Given the description of an element on the screen output the (x, y) to click on. 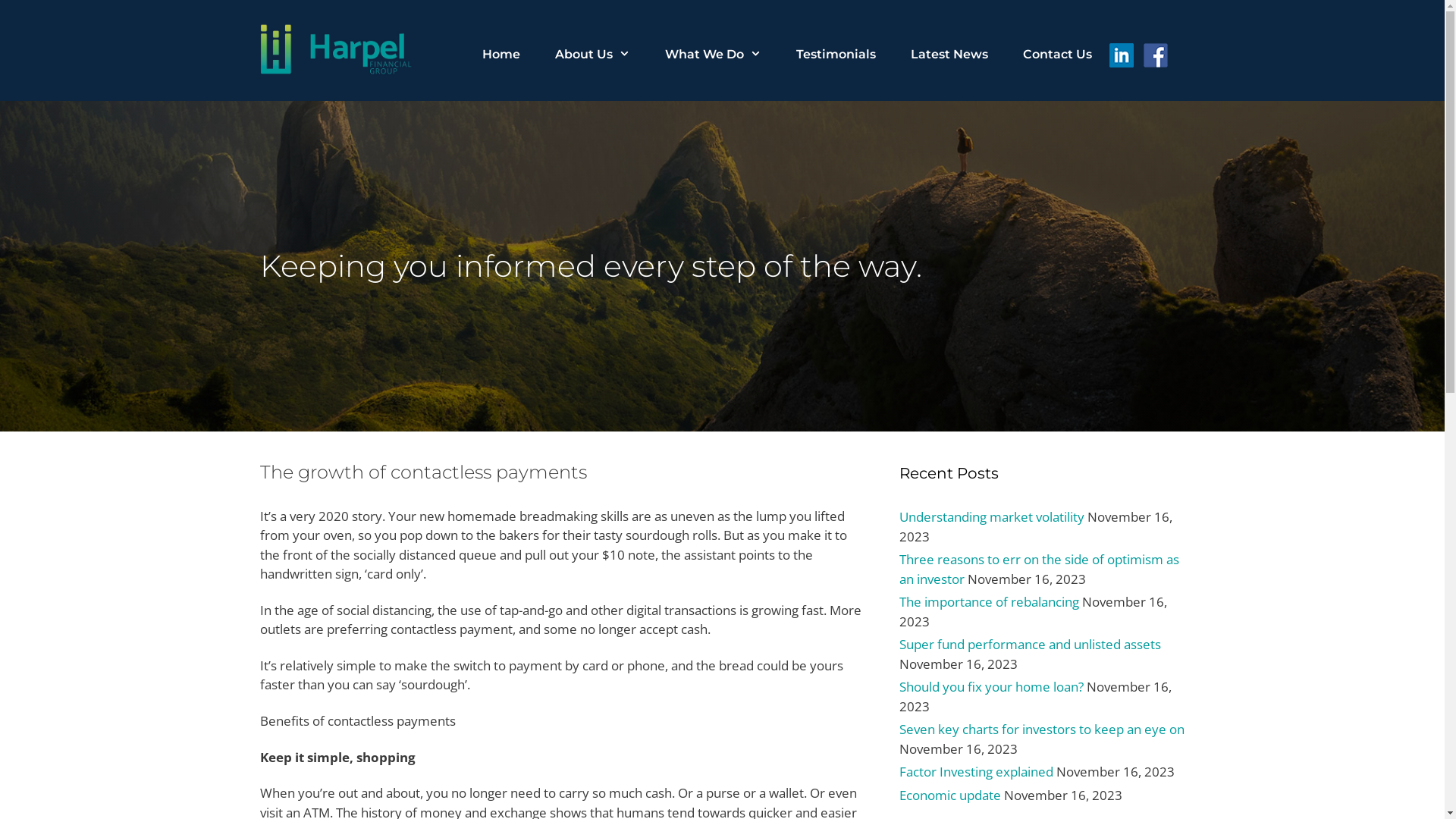
About Us Element type: text (592, 54)
Super fund performance and unlisted assets Element type: text (1030, 643)
The importance of rebalancing Element type: text (989, 601)
Testimonials Element type: text (835, 54)
What We Do Element type: text (712, 54)
Economic update Element type: text (950, 794)
Contact Us Element type: text (1057, 54)
Latest News Element type: text (949, 54)
Three reasons to err on the side of optimism as an investor Element type: text (1039, 568)
Seven key charts for investors to keep an eye on Element type: text (1041, 728)
Factor Investing explained Element type: text (976, 771)
Understanding market volatility Element type: text (991, 516)
Home Element type: text (500, 54)
Should you fix your home loan? Element type: text (991, 686)
